Given the description of an element on the screen output the (x, y) to click on. 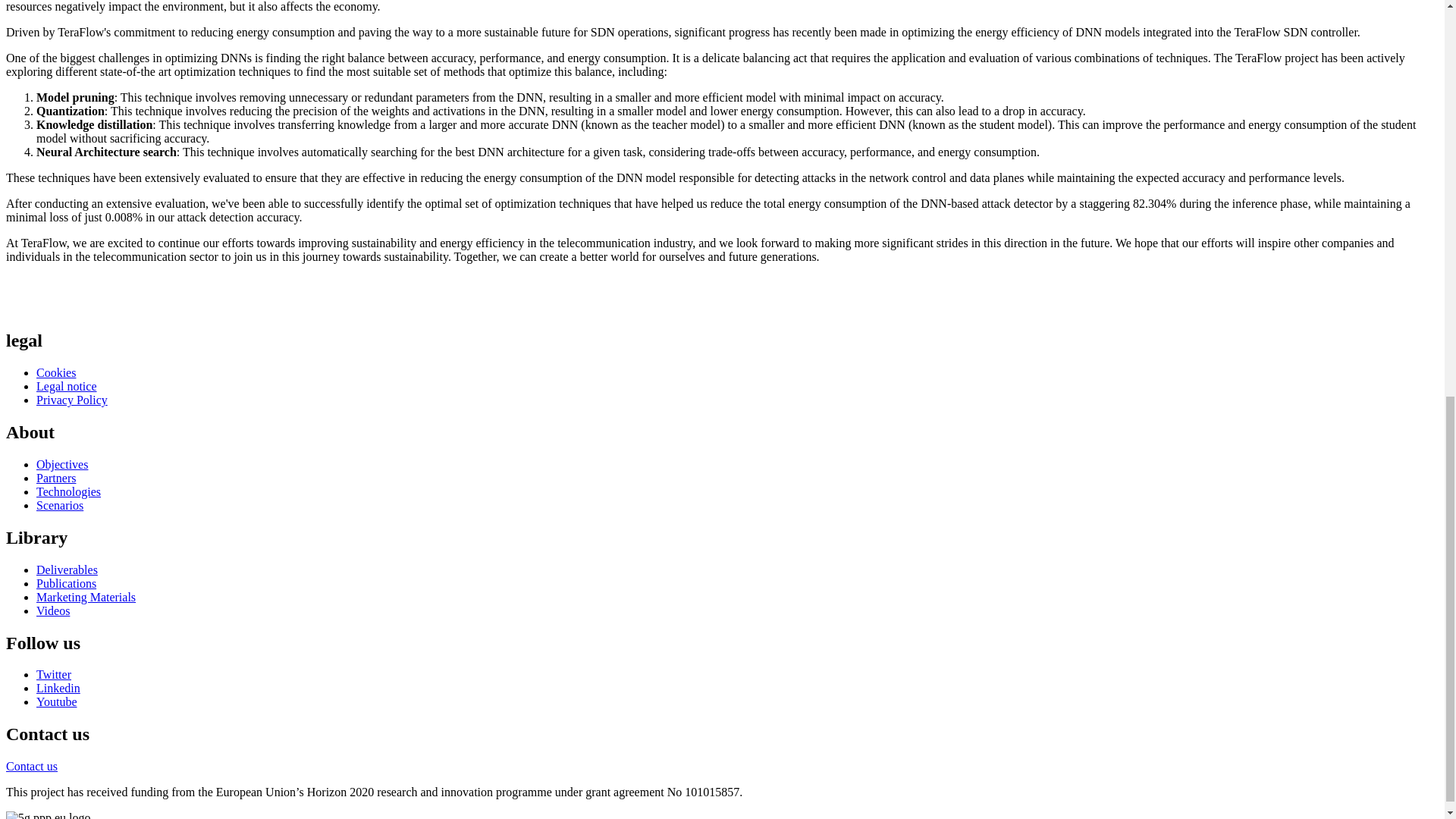
Videos (52, 610)
Technologies (68, 491)
Partners (55, 477)
Youtube (56, 701)
Twitter (53, 674)
Cookies (55, 372)
Marketing Materials (85, 596)
Privacy Policy (71, 399)
Objectives (61, 463)
Linkedin (58, 687)
